Given the description of an element on the screen output the (x, y) to click on. 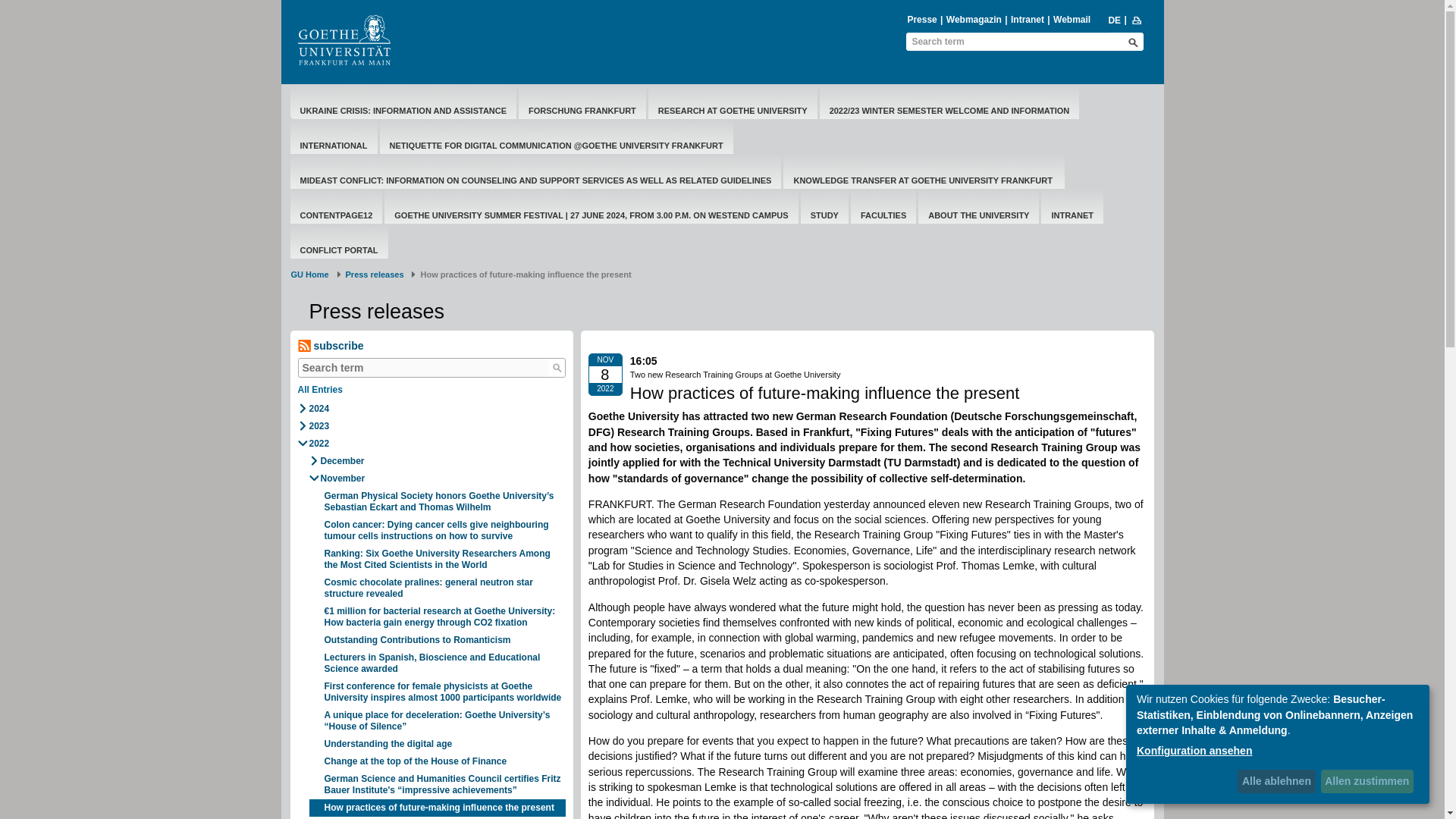
UKRAINE CRISIS: INFORMATION AND ASSISTANCE (403, 110)
KNOWLEDGE TRANSFER AT GOETHE UNIVERSITY FRANKFURT  (923, 180)
INTERNATIONAL (334, 145)
RESEARCH AT GOETHE UNIVERSITY (732, 110)
zur deutschen Seite (1113, 20)
Intranet (1027, 19)
Webmagazin (973, 19)
FORSCHUNG FRANKFURT (582, 110)
Webmail (1071, 19)
DE (1113, 20)
CONTENTPAGE12 (336, 215)
Start Search (1132, 42)
print page (1136, 20)
Search (557, 367)
